Given the description of an element on the screen output the (x, y) to click on. 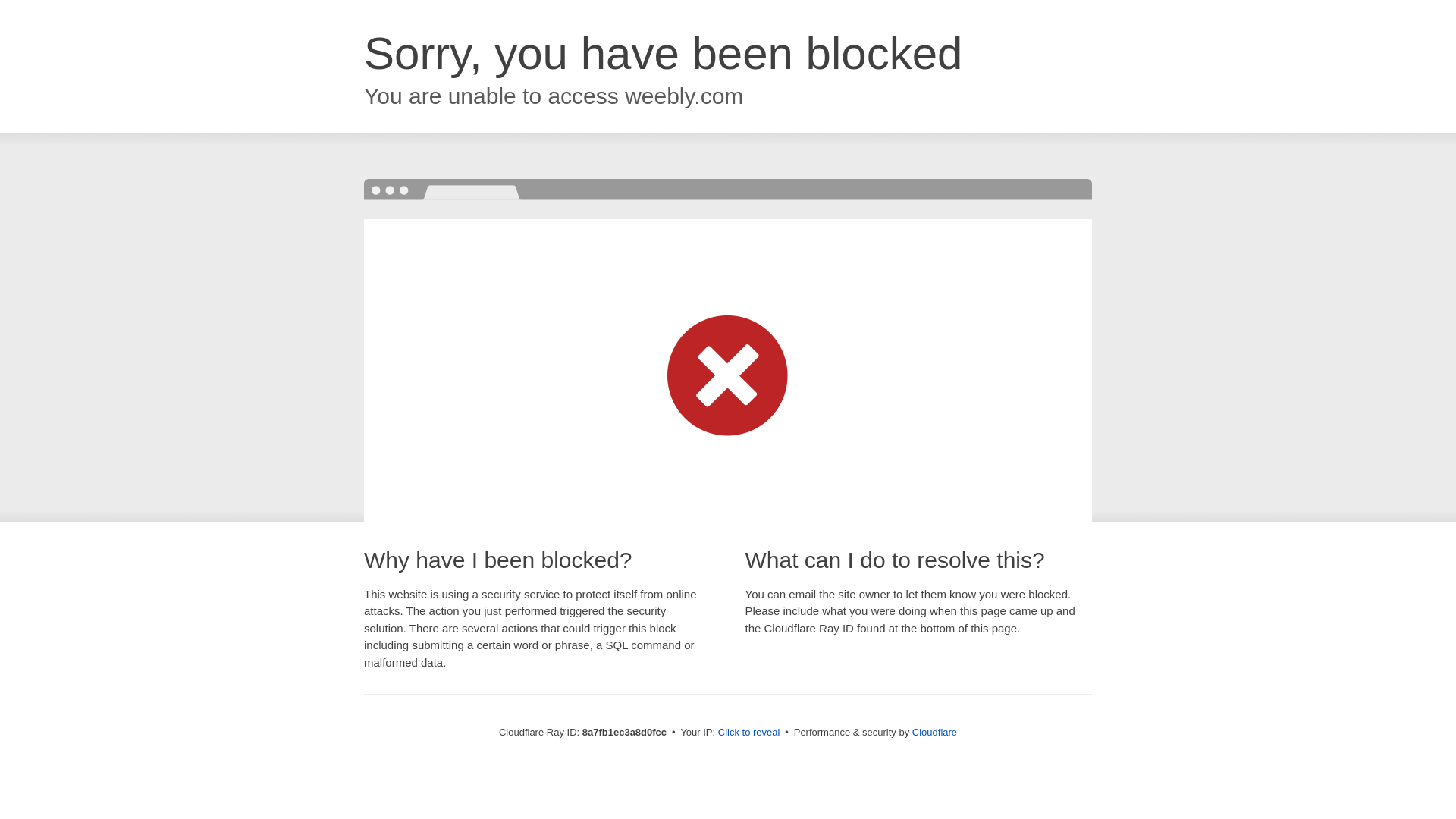
Click to reveal (748, 732)
Cloudflare (934, 731)
